Given the description of an element on the screen output the (x, y) to click on. 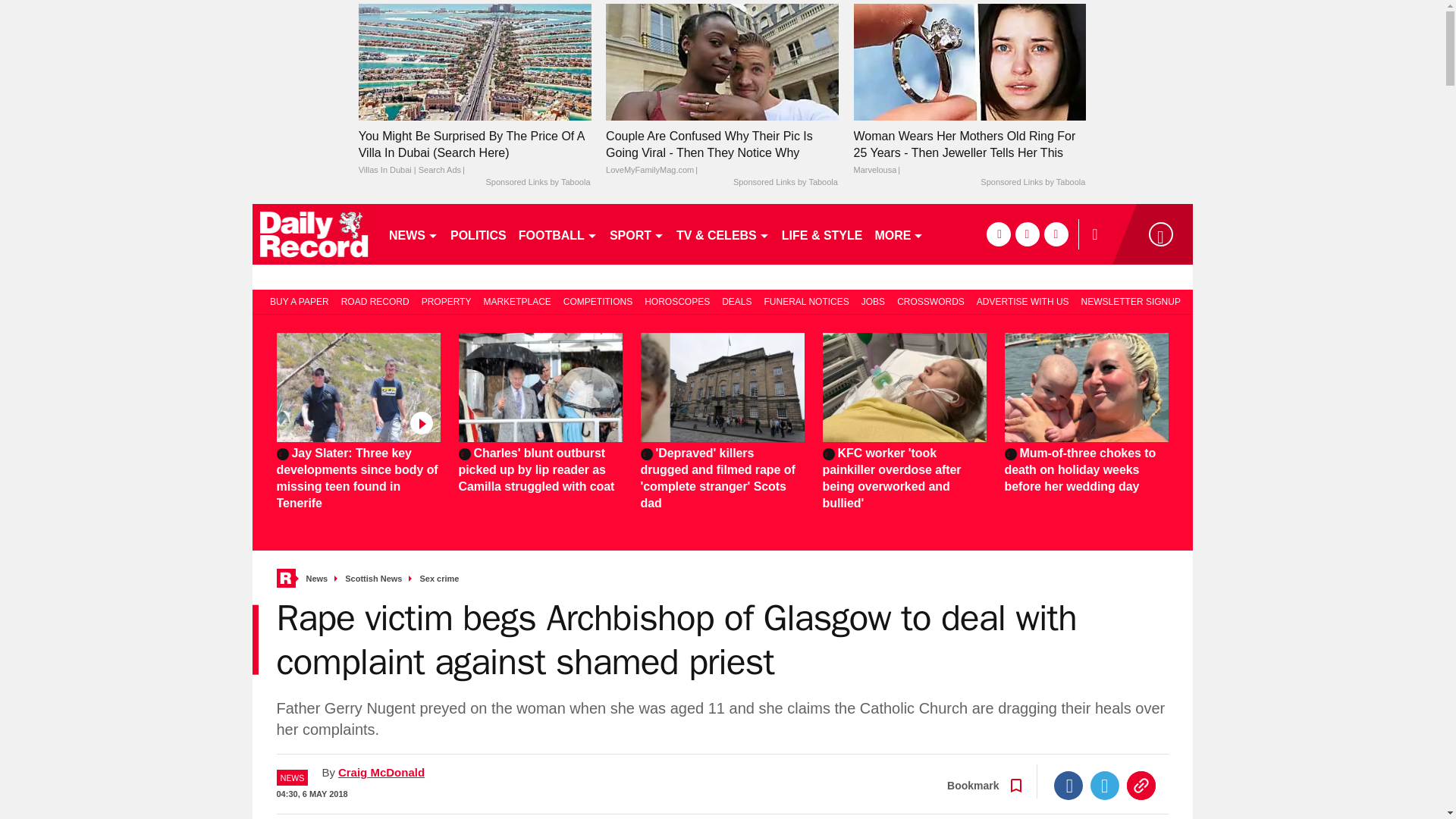
Sponsored Links by Taboola (536, 182)
dailyrecord (313, 233)
Sponsored Links by Taboola (1031, 182)
NEWS (413, 233)
Facebook (1068, 785)
POLITICS (478, 233)
Twitter (1104, 785)
FOOTBALL (558, 233)
Sponsored Links by Taboola (785, 182)
facebook (997, 233)
twitter (1026, 233)
